Given the description of an element on the screen output the (x, y) to click on. 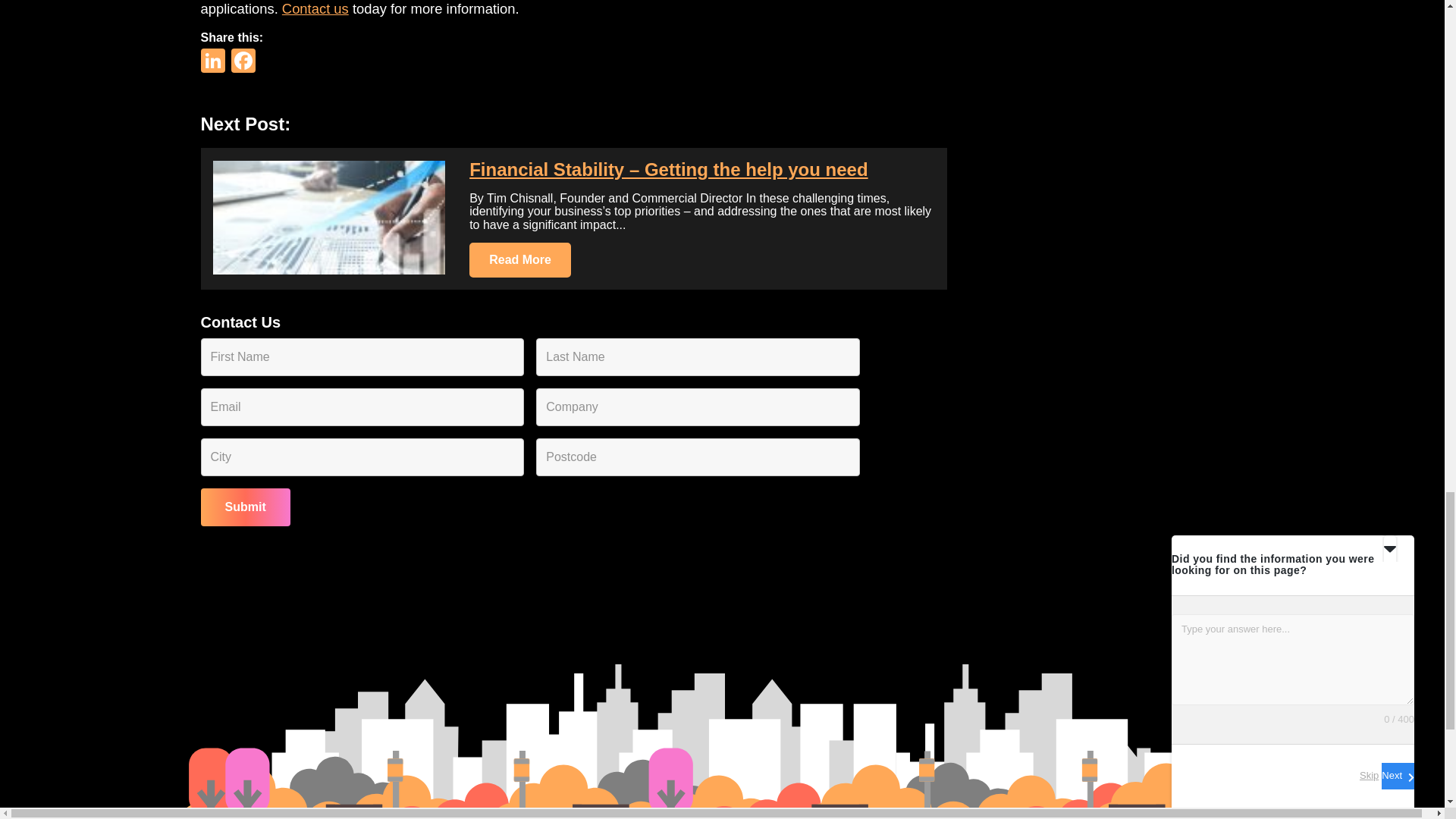
LinkedIn (213, 62)
Facebook (242, 62)
Submit (244, 507)
